Given the description of an element on the screen output the (x, y) to click on. 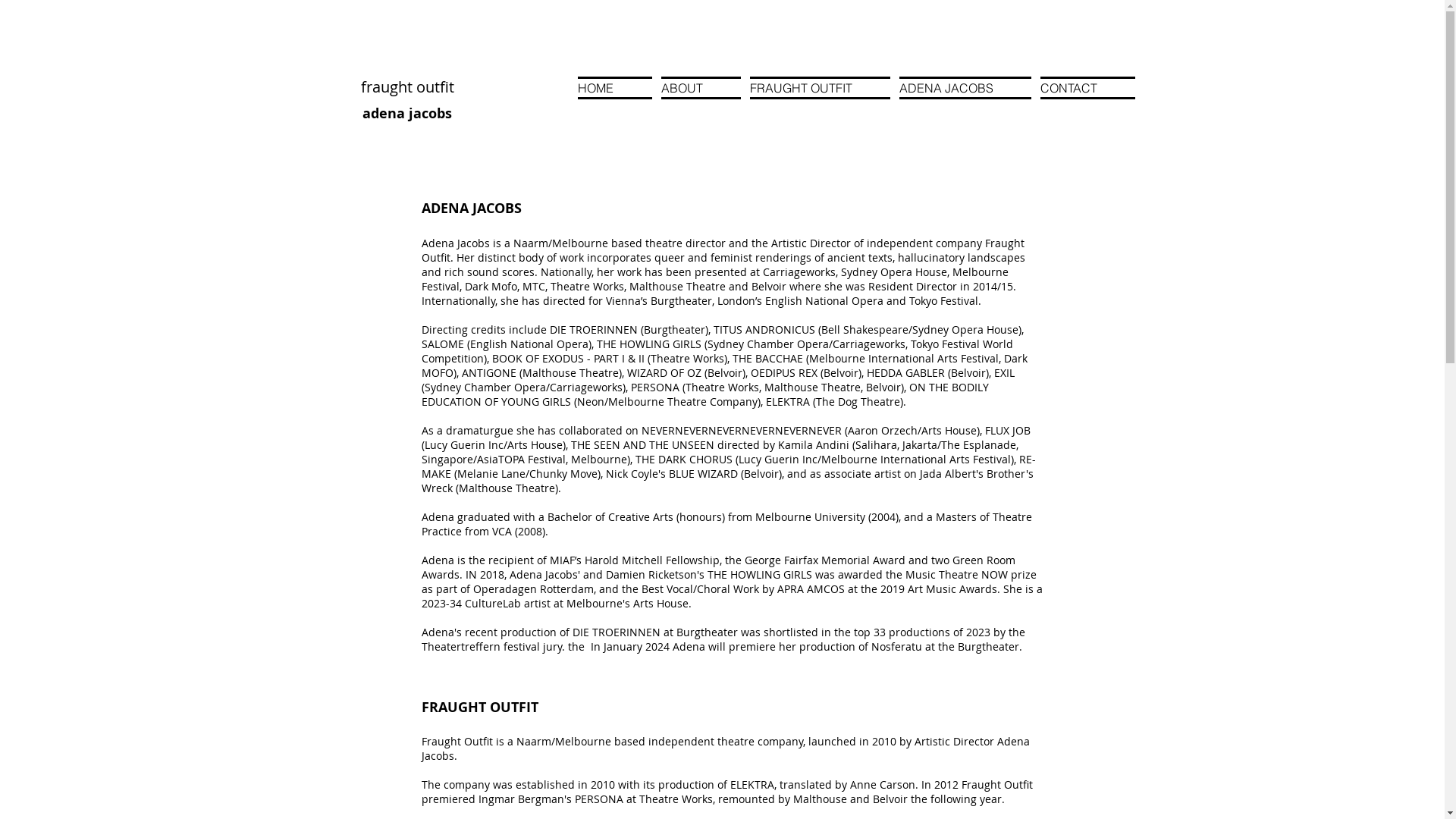
CONTACT Element type: text (1085, 87)
ABOUT Element type: text (700, 87)
HOME Element type: text (616, 87)
